Given the description of an element on the screen output the (x, y) to click on. 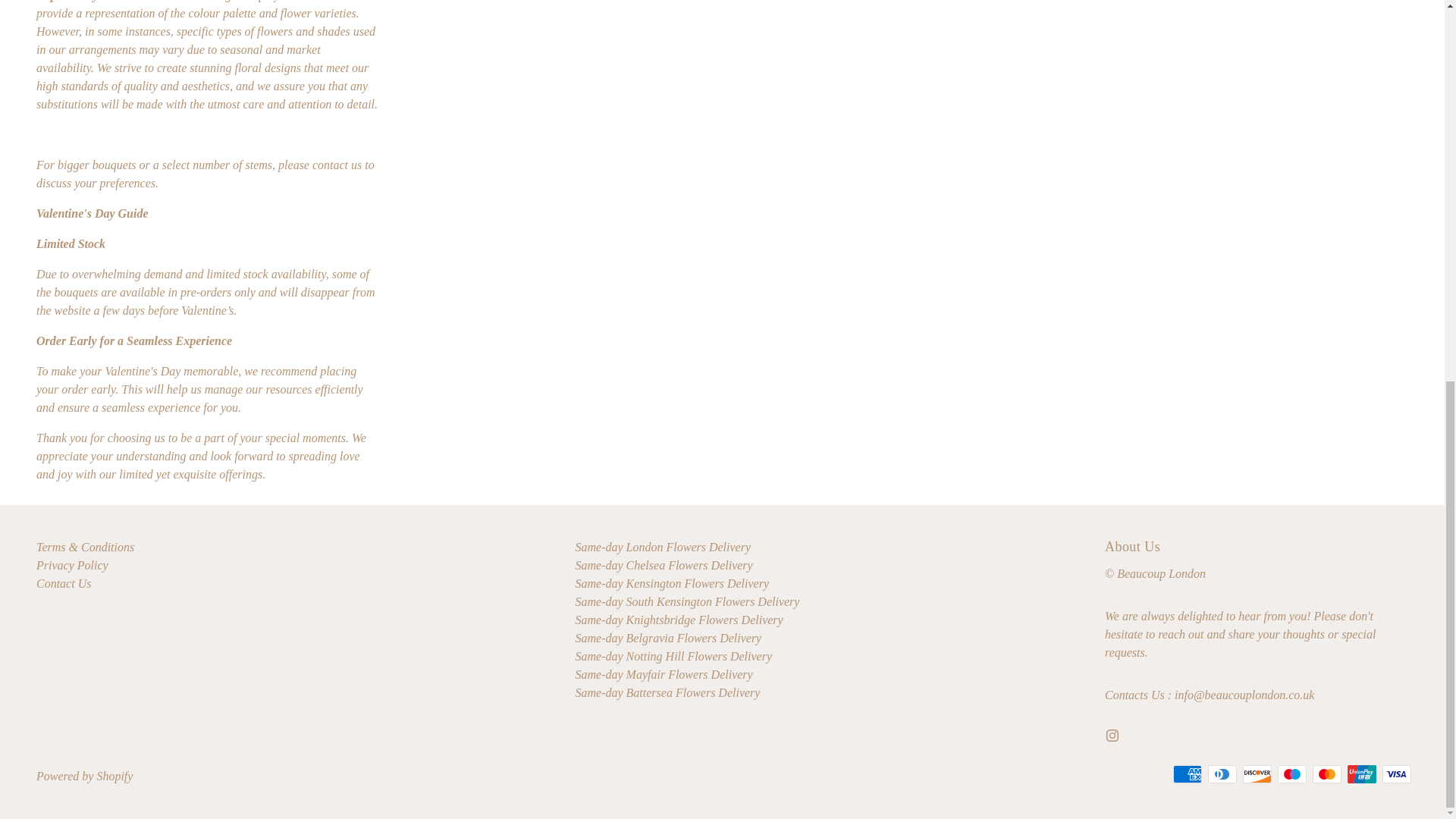
Same-day Kensington Flowers Delivery (671, 583)
Maestro (1292, 773)
Same-day Knightsbridge Flowers Delivery (679, 619)
Same-day Battersea Flowers Delivery (667, 692)
Contact Us (63, 583)
Discover (1257, 773)
Same-day Battersea Flowers Delivery (667, 692)
Same-day Chelsea Flowers Delivery (663, 564)
Visa (1395, 773)
Same-day Notting Hill Flowers Delivery (673, 656)
Same-day South Kensington Flowers Delivery (687, 601)
Same-day London Flowers Delivery (663, 546)
Diners Club (1222, 773)
Same-day Mayfair Flowers Delivery (663, 674)
Same-day London Flowers Delivery (663, 546)
